Given the description of an element on the screen output the (x, y) to click on. 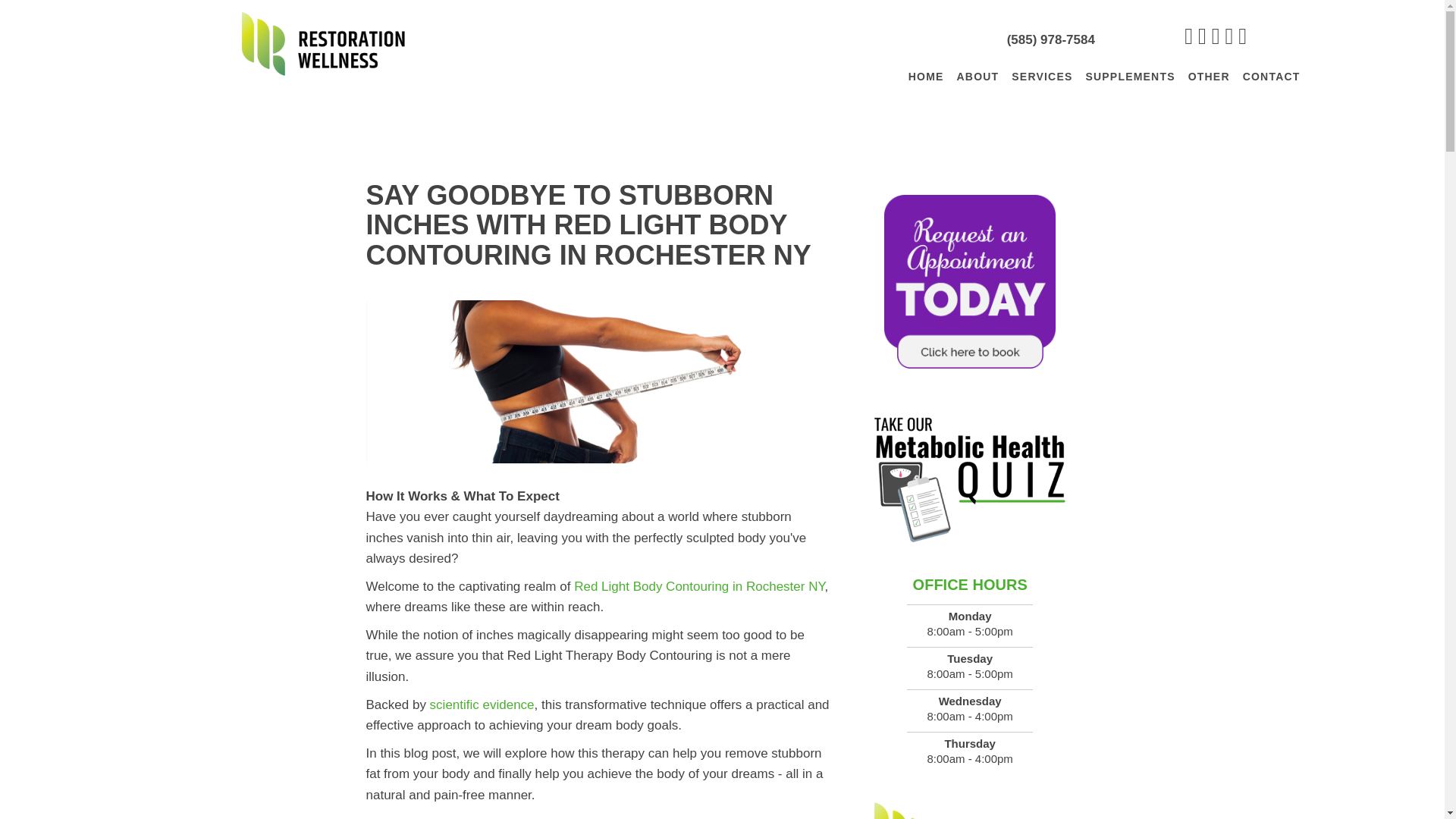
ABOUT (978, 76)
Weight Loss Near Me Rochester NY Request An Appointment (970, 281)
Weight Loss Rochester NY Restoration Wellness (322, 43)
OTHER (1209, 76)
HOME (926, 76)
Weight Loss Rochester NY Metabolic Health Quiz (970, 479)
SUPPLEMENTS (1129, 76)
Weight Loss Rochester NY Restoration Wellness (970, 807)
SERVICES (1042, 76)
